Given the description of an element on the screen output the (x, y) to click on. 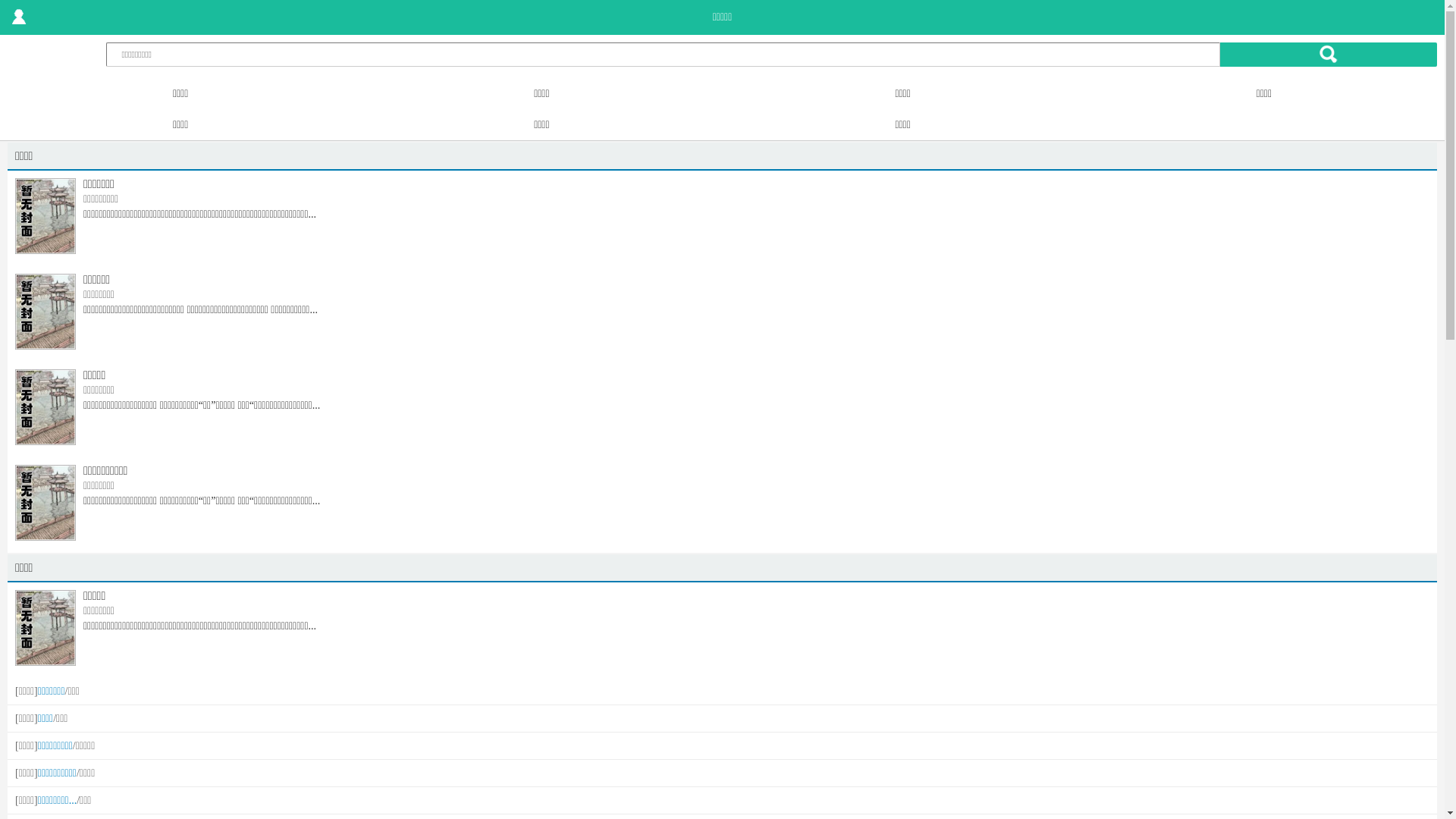
  Element type: text (18, 17)
